Given the description of an element on the screen output the (x, y) to click on. 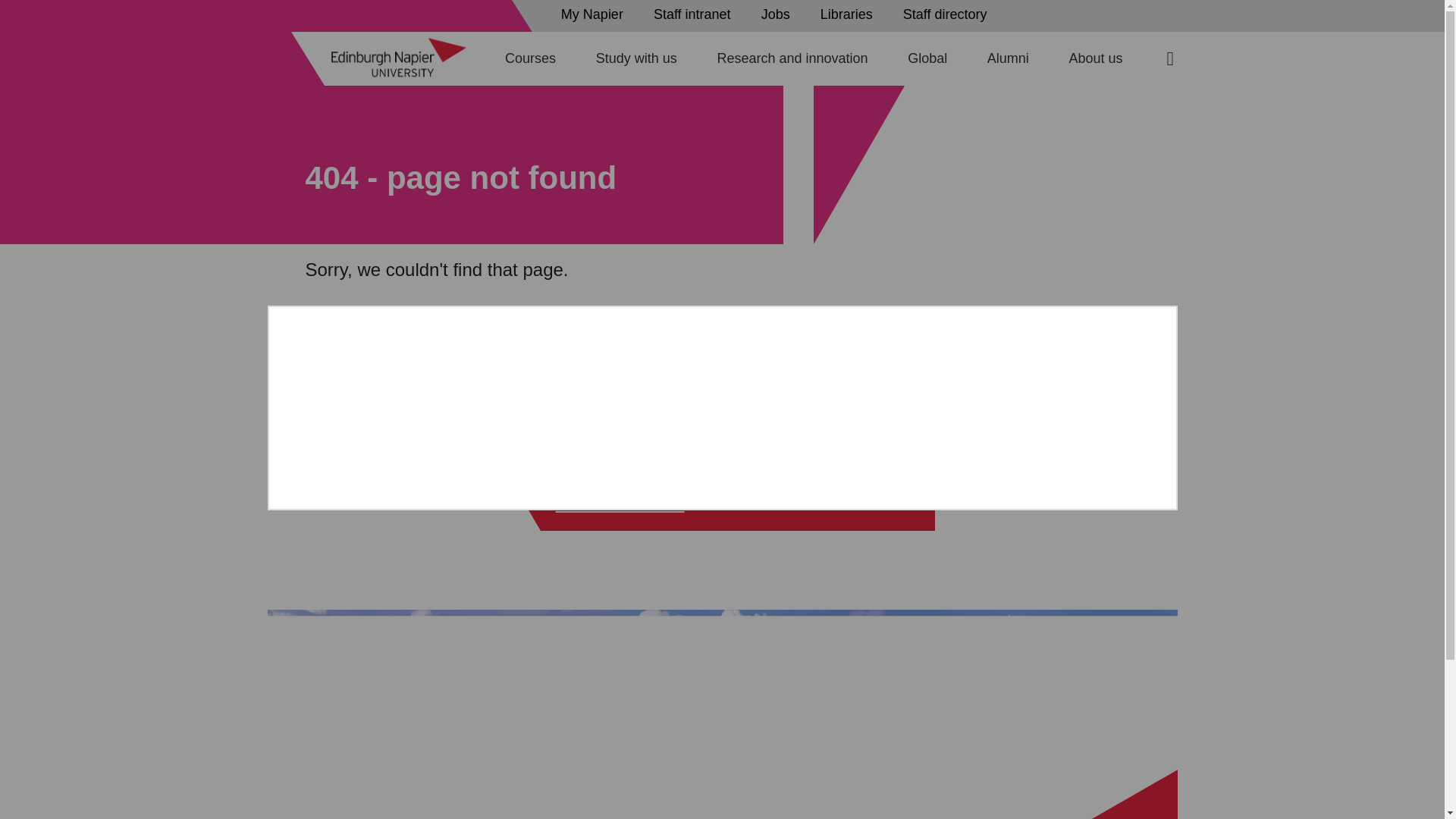
Staff directory (949, 14)
Staff intranet (695, 14)
Jobs (779, 14)
Study with us (636, 58)
My Napier (596, 14)
Courses (530, 58)
People  (850, 14)
Libraries (850, 14)
